Given the description of an element on the screen output the (x, y) to click on. 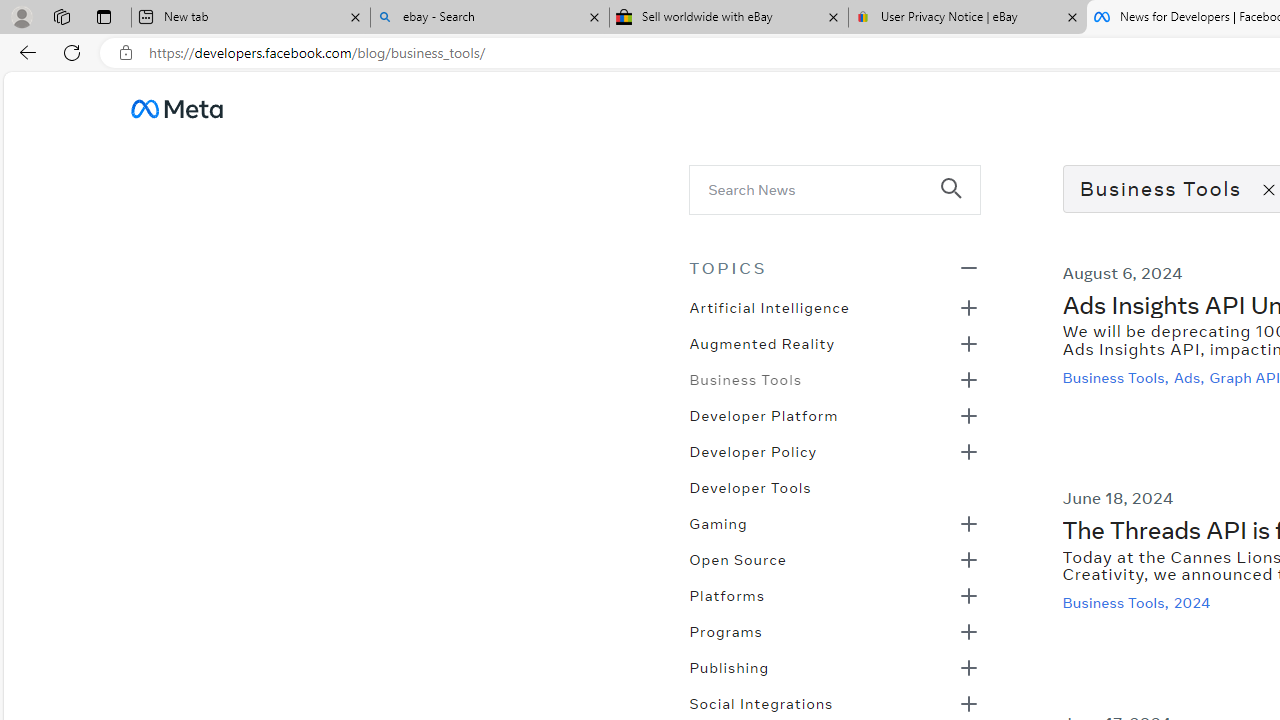
New tab (250, 17)
Sell worldwide with eBay (729, 17)
Open Source (737, 557)
Developer Policy (752, 449)
View site information (125, 53)
User Privacy Notice | eBay (967, 17)
Class: _98ce (959, 201)
Ads, (1190, 377)
Close tab (1072, 16)
Publishing (729, 665)
AutomationID: u_0_4z_2S (176, 107)
Developer Platform (763, 413)
Workspaces (61, 16)
Refresh (72, 52)
Class: _58al (820, 188)
